Given the description of an element on the screen output the (x, y) to click on. 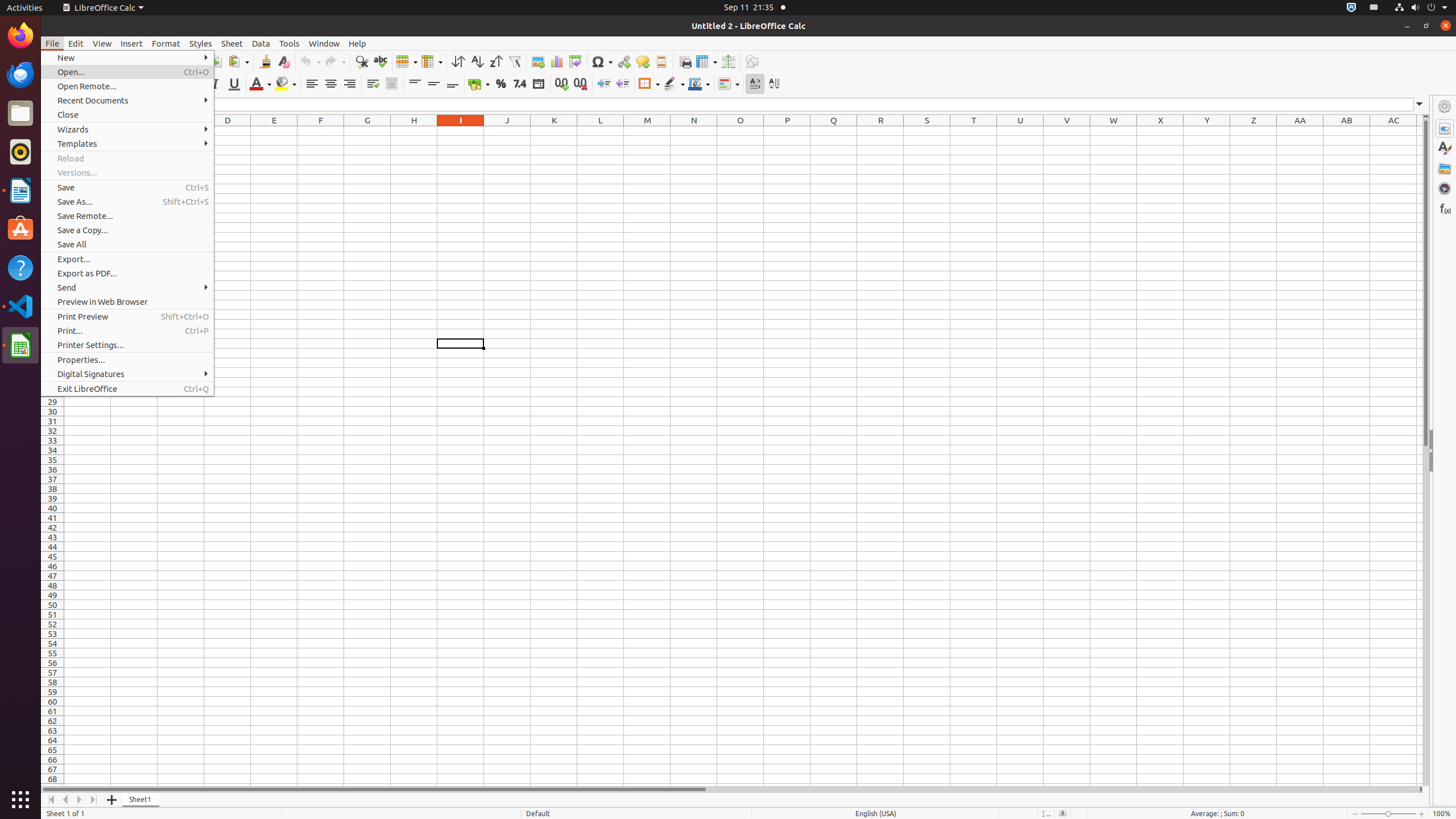
Align Right Element type: push-button (349, 83)
Tools Element type: menu (289, 43)
Data Element type: menu (260, 43)
Move Left Element type: push-button (65, 799)
Format Element type: menu (165, 43)
